Given the description of an element on the screen output the (x, y) to click on. 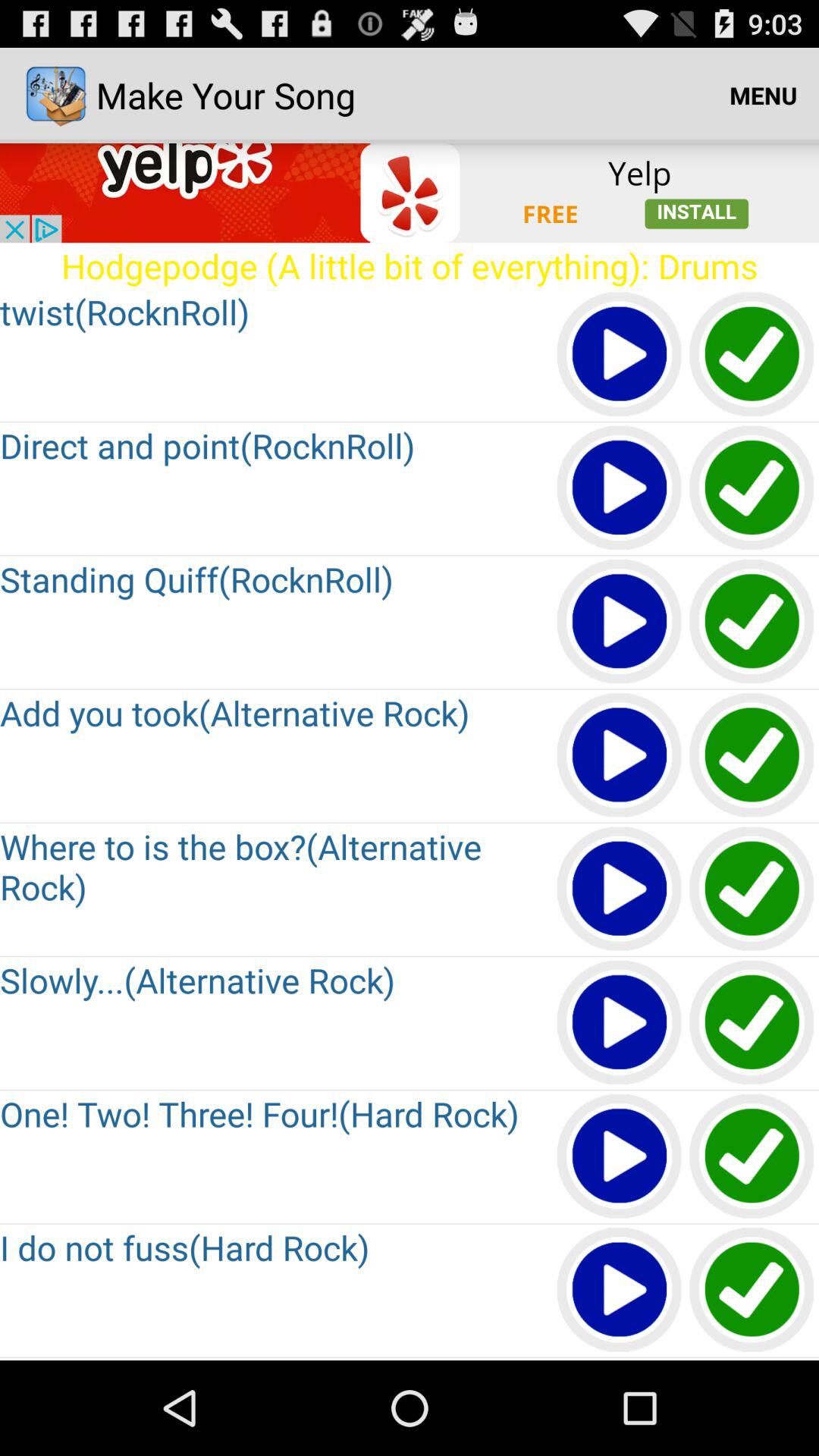
play icon (619, 1023)
